Given the description of an element on the screen output the (x, y) to click on. 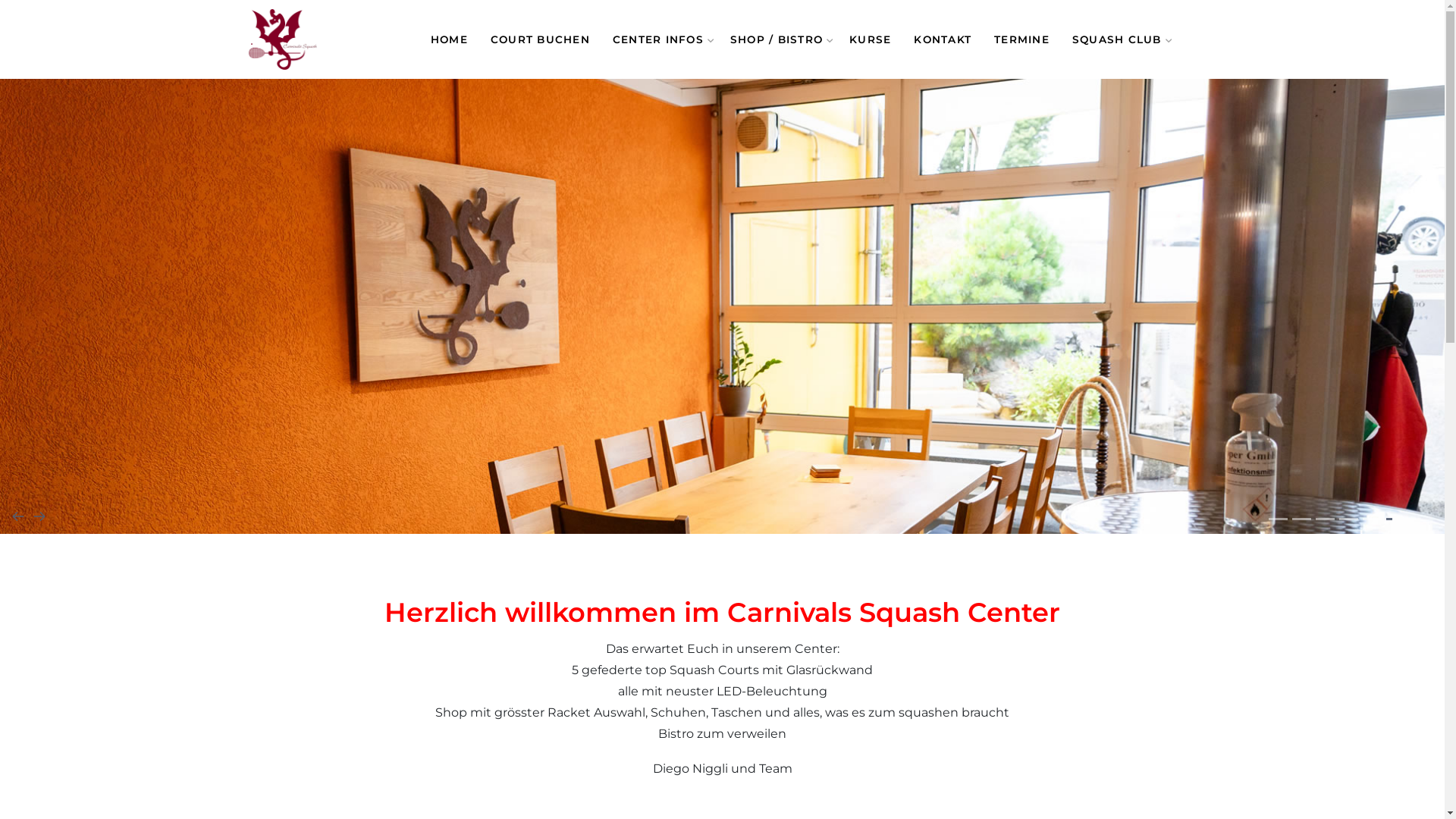
SQUASH CLUB Element type: text (1118, 39)
SHOP / BISTRO Element type: text (778, 39)
TERMINE Element type: text (1021, 39)
COURT BUCHEN Element type: text (539, 39)
Carnivals Squash Center Element type: hover (282, 39)
HOME Element type: text (448, 39)
KURSE Element type: text (870, 39)
KONTAKT Element type: text (942, 39)
CENTER INFOS Element type: text (659, 39)
